Given the description of an element on the screen output the (x, y) to click on. 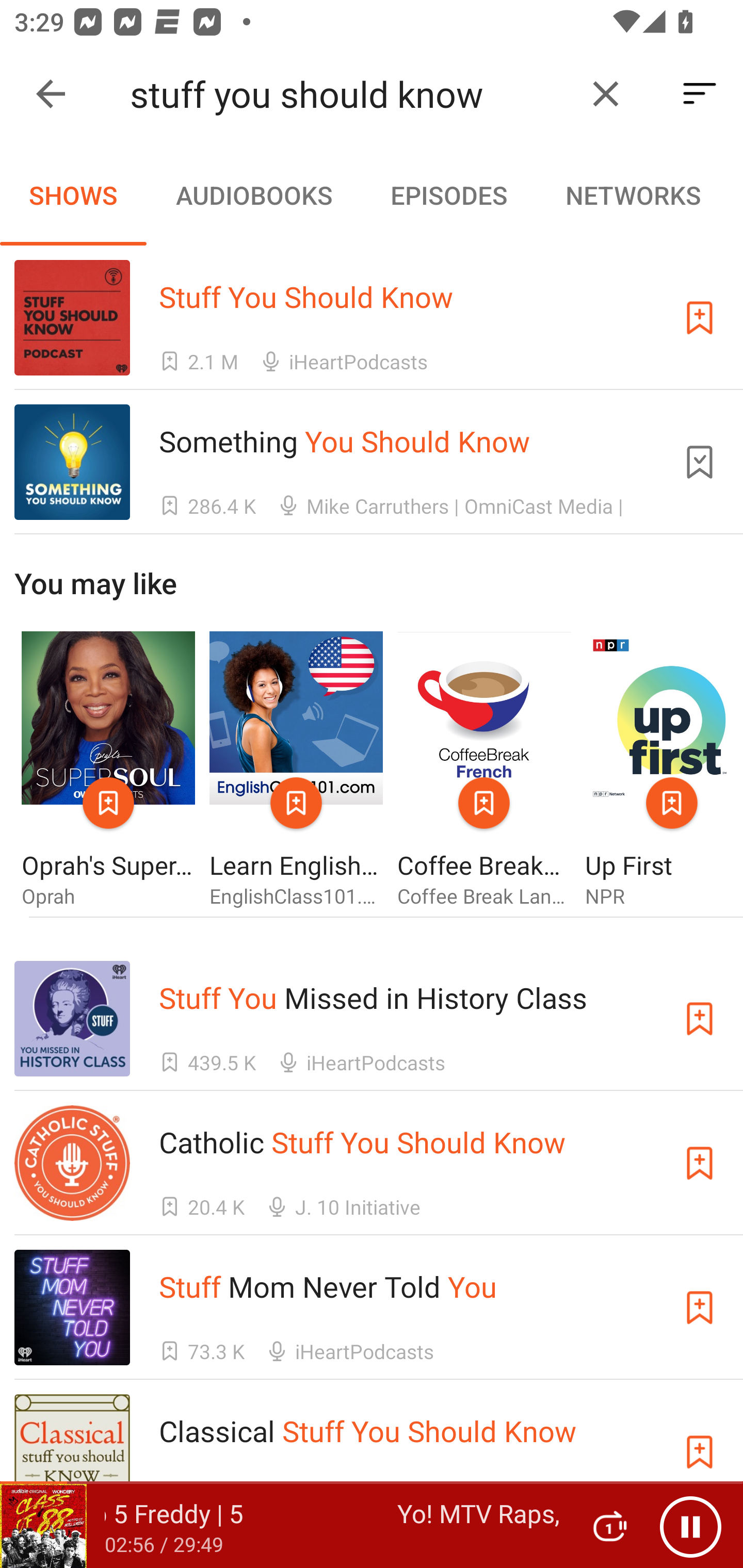
Collapse (50, 93)
Clear query (605, 93)
Sort By (699, 93)
stuff you should know (349, 94)
SHOWS (73, 195)
AUDIOBOOKS (253, 195)
EPISODES (448, 195)
NETWORKS (632, 195)
Subscribe (699, 317)
Unsubscribe (699, 462)
Oprah's Super Soul Oprah (107, 770)
Coffee Break French Coffee Break Languages (483, 770)
Up First NPR (664, 770)
Subscribe (699, 1019)
Subscribe (699, 1163)
Subscribe (699, 1307)
Subscribe (699, 1451)
Pause (690, 1526)
